Given the description of an element on the screen output the (x, y) to click on. 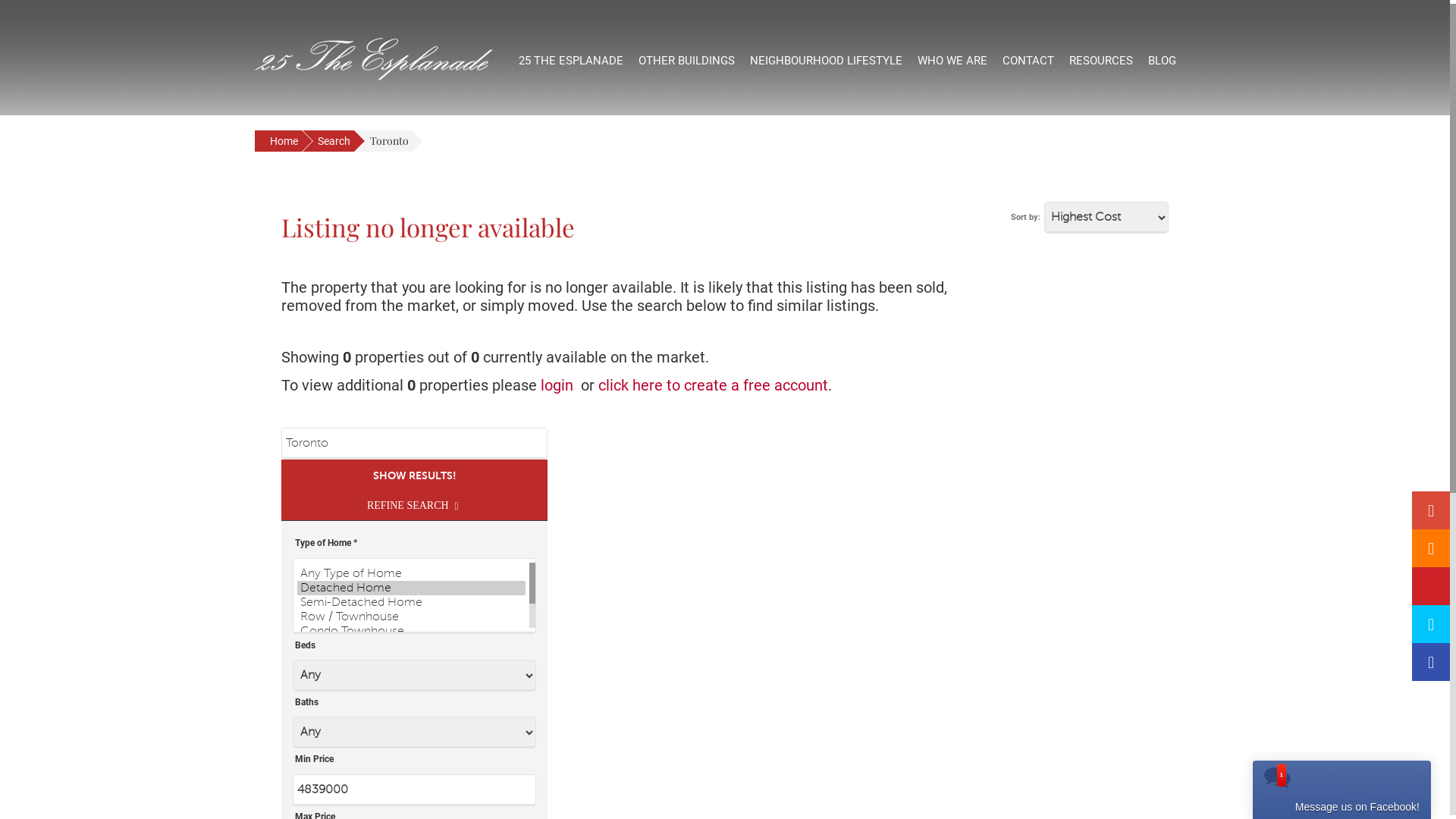
25 THE ESPLANADE Element type: text (570, 60)
BLOG Element type: text (1162, 60)
Home Element type: text (277, 140)
pinterest Element type: hover (1430, 586)
google-plus Element type: hover (1430, 510)
facebook Element type: hover (1430, 661)
login Element type: text (556, 385)
WHO WE ARE Element type: text (952, 60)
twitter Element type: hover (1430, 624)
RESOURCES Element type: text (1100, 60)
Searching for listings in Toronto Element type: hover (373, 54)
rss Element type: hover (1430, 548)
Search Element type: text (328, 140)
NEIGHBOURHOOD LIFESTYLE Element type: text (825, 60)
click here to create a free account Element type: text (713, 385)
CONTACT Element type: text (1028, 60)
Searching for listings in Toronto Element type: hover (373, 58)
REFINE SEARCH Element type: text (414, 505)
SHOW RESULTS! Element type: text (414, 475)
OTHER BUILDINGS Element type: text (686, 60)
